Given the description of an element on the screen output the (x, y) to click on. 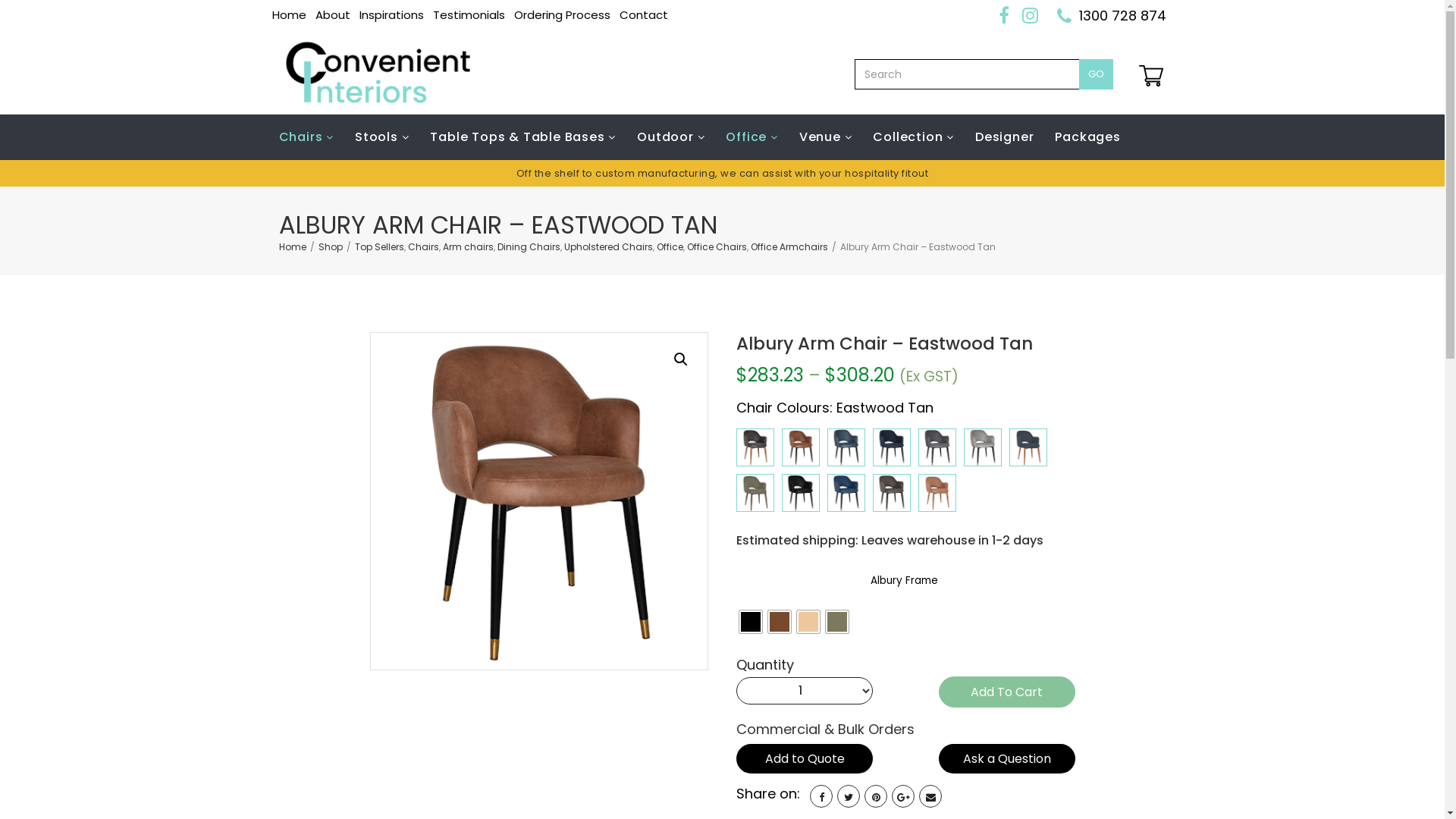
Albury Arm Chair - Pelle Tan Element type: hover (937, 492)
Albury Arm Chair  - Vinyl Blue Element type: hover (846, 492)
Office Armchairs Element type: text (789, 246)
Metal Lightoak Element type: hover (808, 621)
Arm chairs Element type: text (467, 246)
Venue Element type: text (825, 137)
Add to Quote Element type: text (804, 758)
About Element type: text (332, 15)
Packages Element type: text (1087, 137)
Upholstered Chairs Element type: text (608, 246)
albury-arm-chair-slmi-black-brass-eastwood-tan Element type: hover (539, 501)
facebook Element type: hover (820, 795)
Ordering Process Element type: text (562, 15)
Collection Element type: text (913, 137)
Office Element type: text (669, 246)
Contact Element type: text (642, 15)
Stools Element type: text (381, 137)
Top Sellers Element type: text (379, 246)
Albury Arm Chair - Gravity Slate Element type: hover (937, 447)
Ask a Question Element type: text (1006, 758)
Shop Element type: text (330, 246)
Submit Element type: text (722, 583)
Office Chairs Element type: text (716, 246)
GO Element type: text (1095, 74)
Dining Chairs Element type: text (528, 246)
Designer Element type: text (1004, 137)
Chairs Element type: text (423, 246)
Home Element type: text (288, 15)
Submit Element type: text (722, 616)
Albury Arm Chair - Pelle Navy Element type: hover (1028, 447)
Albury Arm Chair - Gravity Denim Element type: hover (846, 447)
Table Tops & Table Bases Element type: text (522, 137)
Metal Light Walnut Element type: hover (779, 621)
Albury Arm Chair - Vinyl Charcoal Element type: hover (891, 492)
Albury Arm Chair - Gravity Navy Element type: hover (891, 447)
Inspirations Element type: text (391, 15)
Home Element type: text (292, 246)
1300 728 874 Element type: text (1121, 15)
Albury Arm Chair - Vinyl Black Element type: hover (800, 492)
Outdoor Element type: text (670, 137)
Albury Arm Chair - Gravity Steel Element type: hover (982, 447)
Add To Cart Element type: text (1006, 691)
Office Element type: text (751, 137)
Chairs Element type: text (311, 137)
Testimonials Element type: text (467, 15)
Metal Black Element type: hover (750, 621)
Albury Arm Chair - Pelle Sage Element type: hover (755, 492)
Metal(Slim)black Brass Caps Element type: hover (836, 621)
Albury Arm Chair - Eastwood Slate Element type: hover (755, 447)
